Given the description of an element on the screen output the (x, y) to click on. 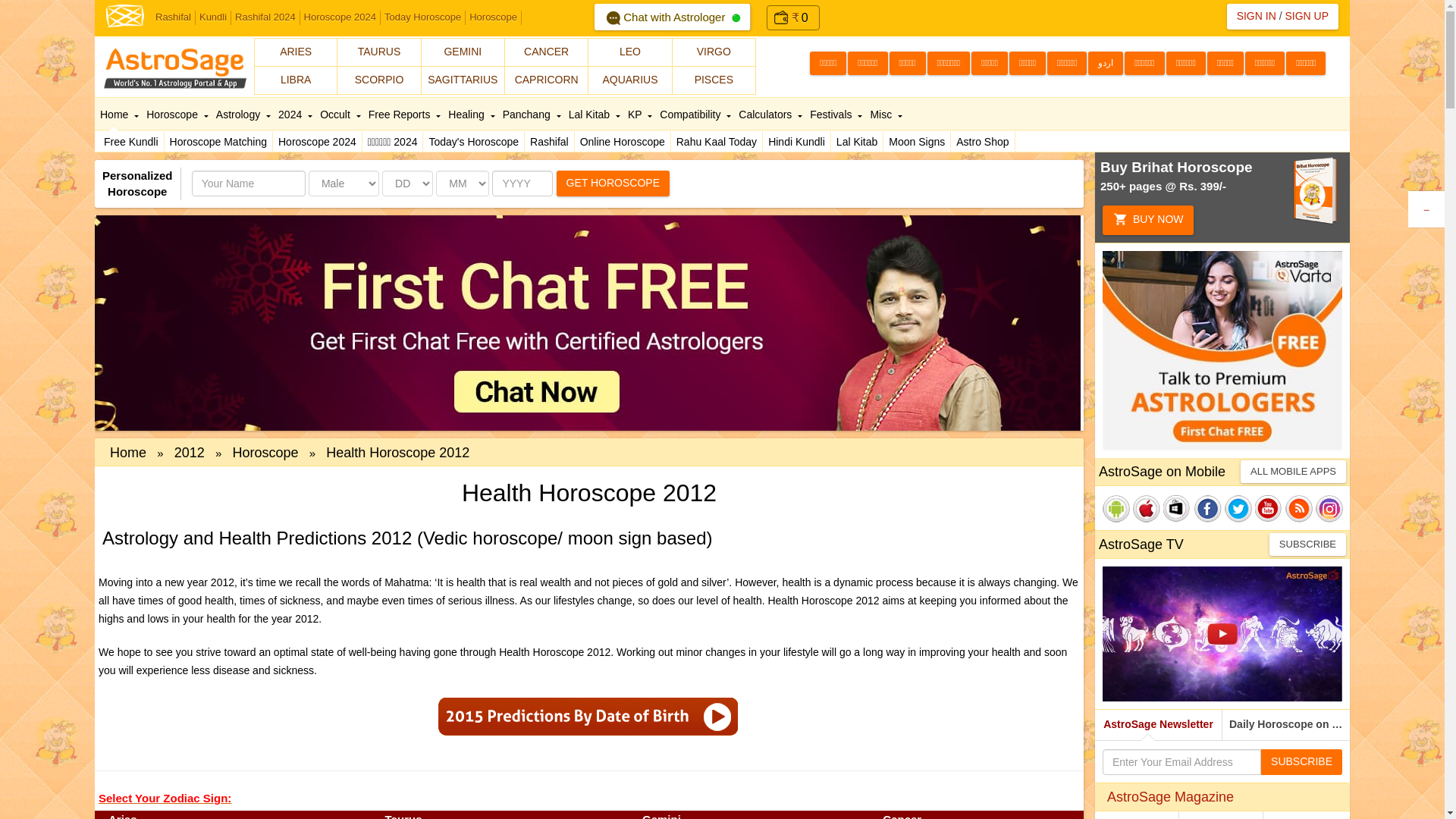
Kannada (907, 63)
Horoscope 2024 (339, 17)
SAGITTARIUS (462, 80)
Rashifal (173, 17)
PISCES (713, 80)
Get your daily rashifal in hindi (549, 141)
CANCER (546, 52)
Rashifal 2024 (265, 17)
SCORPIO (378, 80)
Urdu (1104, 63)
